Given the description of an element on the screen output the (x, y) to click on. 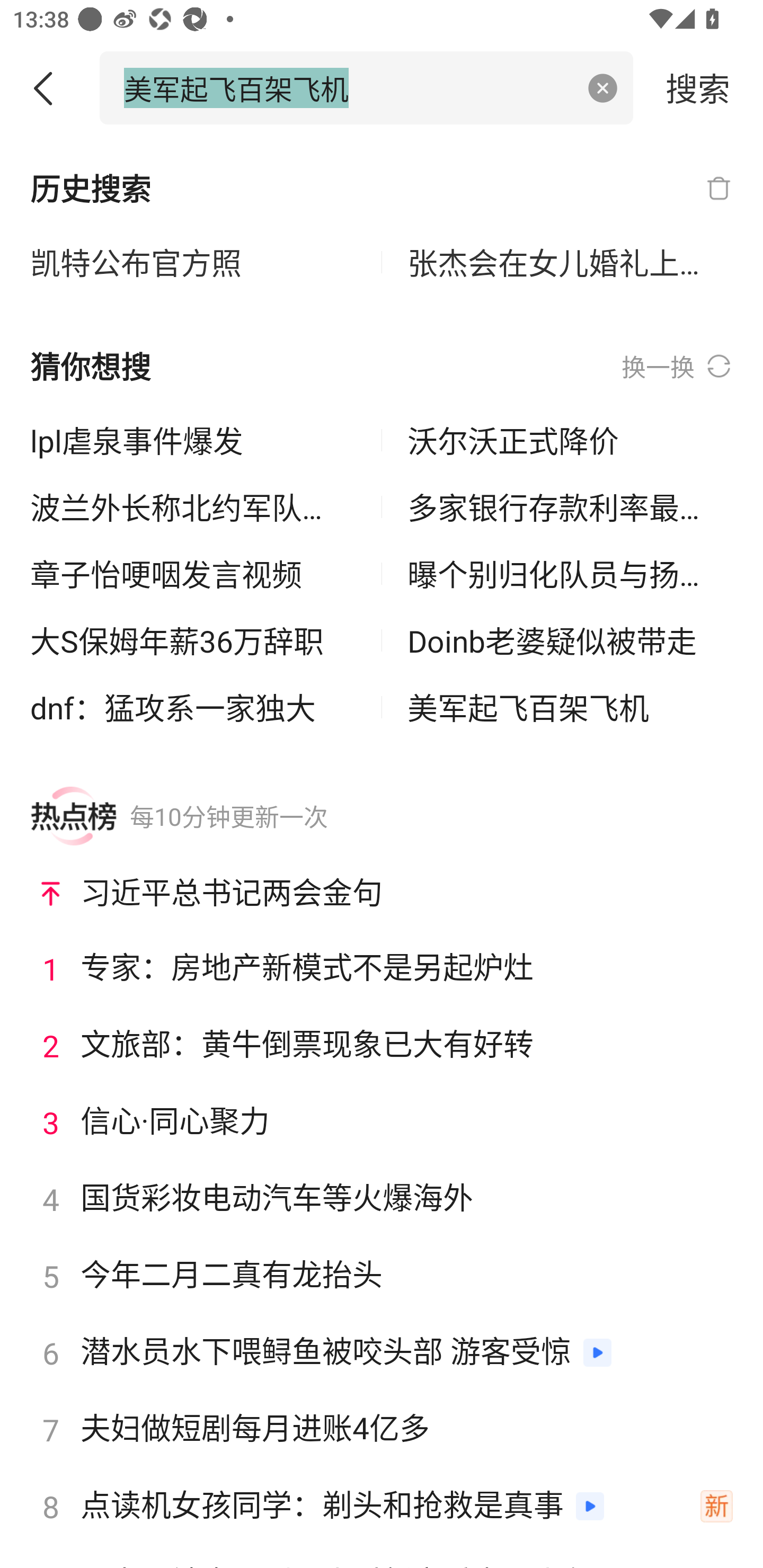
返回 (49, 87)
搜索 (698, 87)
美军起飞百架飞机 (347, 87)
清空 (602, 88)
凯特公布官方照 (193, 262)
张杰会在女儿婚礼上唱三生三世 (569, 262)
换一换 (676, 366)
lpl虐泉事件爆发 (193, 439)
沃尔沃正式降价 (569, 439)
波兰外长称北约军队已抵达乌克兰 (193, 506)
多家银行存款利率最高达10% (569, 506)
章子怡哽咽发言视频 (193, 573)
曝个别归化队员与扬科维奇关系破裂 (569, 573)
大S保姆年薪36万辞职 (193, 640)
Doinb老婆疑似被带走 (569, 640)
dnf：猛攻系一家独大 (193, 707)
美军起飞百架飞机 (569, 707)
